Given the description of an element on the screen output the (x, y) to click on. 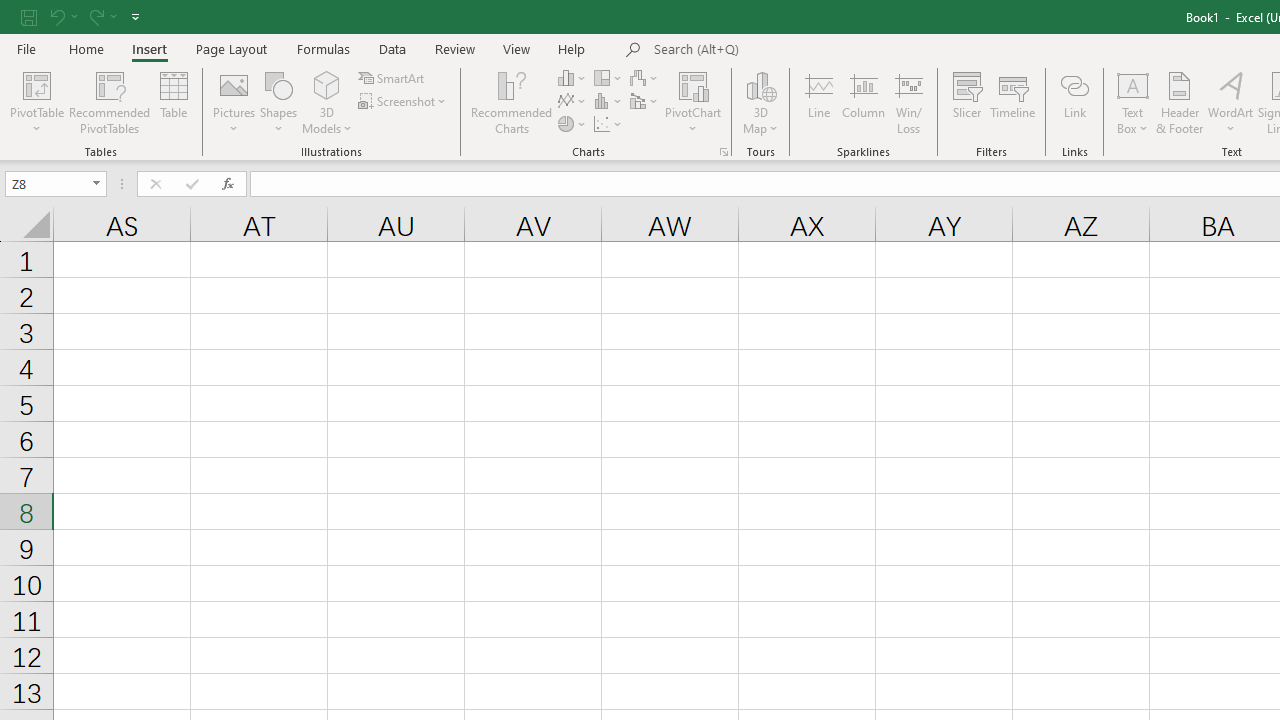
Insert Waterfall, Funnel, Stock, Surface, or Radar Chart (645, 78)
3D Models (326, 84)
PivotChart (693, 84)
Insert Combo Chart (645, 101)
Shapes (278, 102)
Recommended PivotTables (109, 102)
Link (1074, 102)
Draw Horizontal Text Box (1133, 84)
